Given the description of an element on the screen output the (x, y) to click on. 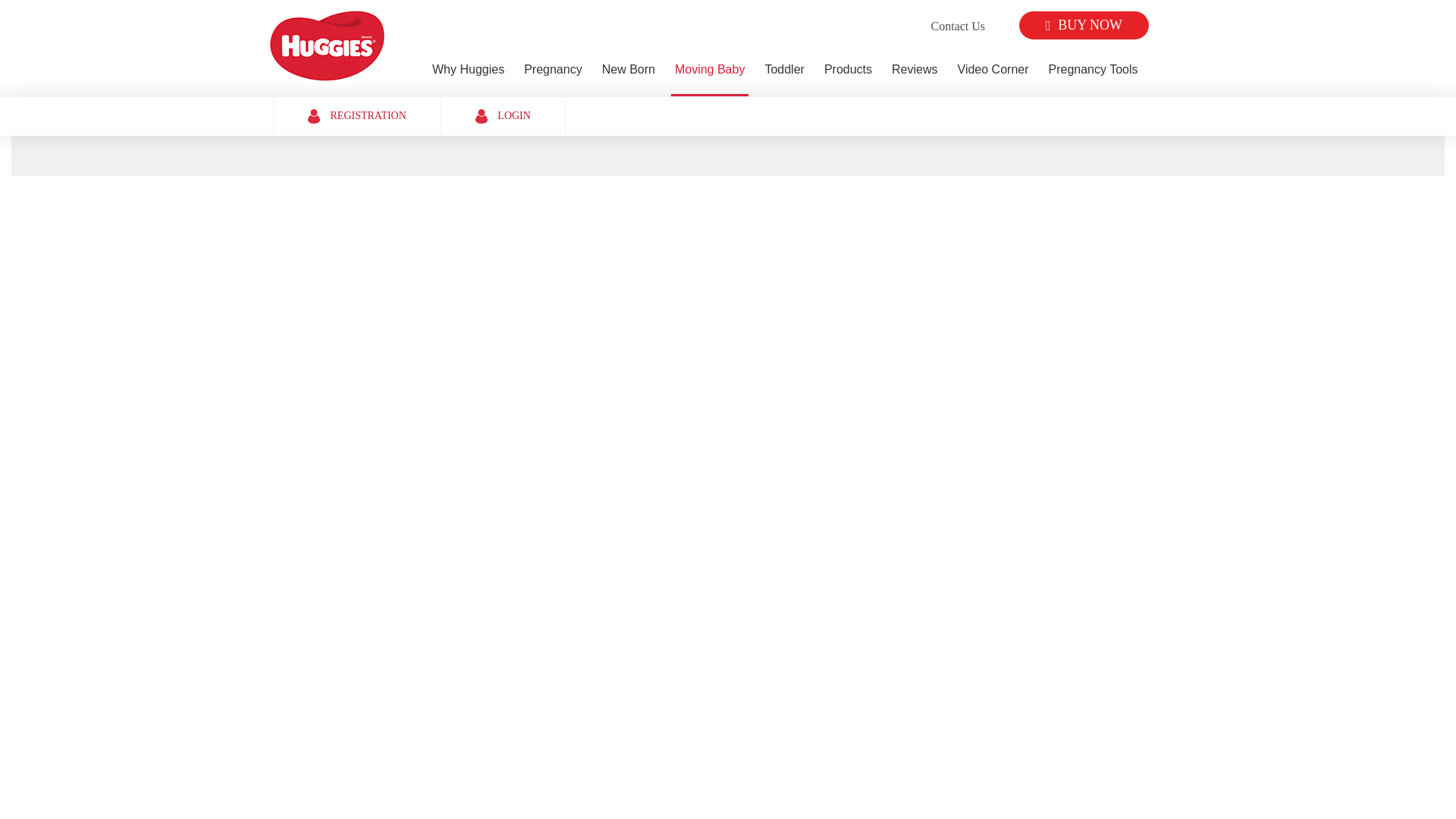
Contact Us (958, 26)
Moving Baby (710, 73)
Toddler (784, 73)
BUY NOW (1083, 25)
New Born (628, 73)
Why Huggies (468, 73)
Pregnancy (552, 73)
